Given the description of an element on the screen output the (x, y) to click on. 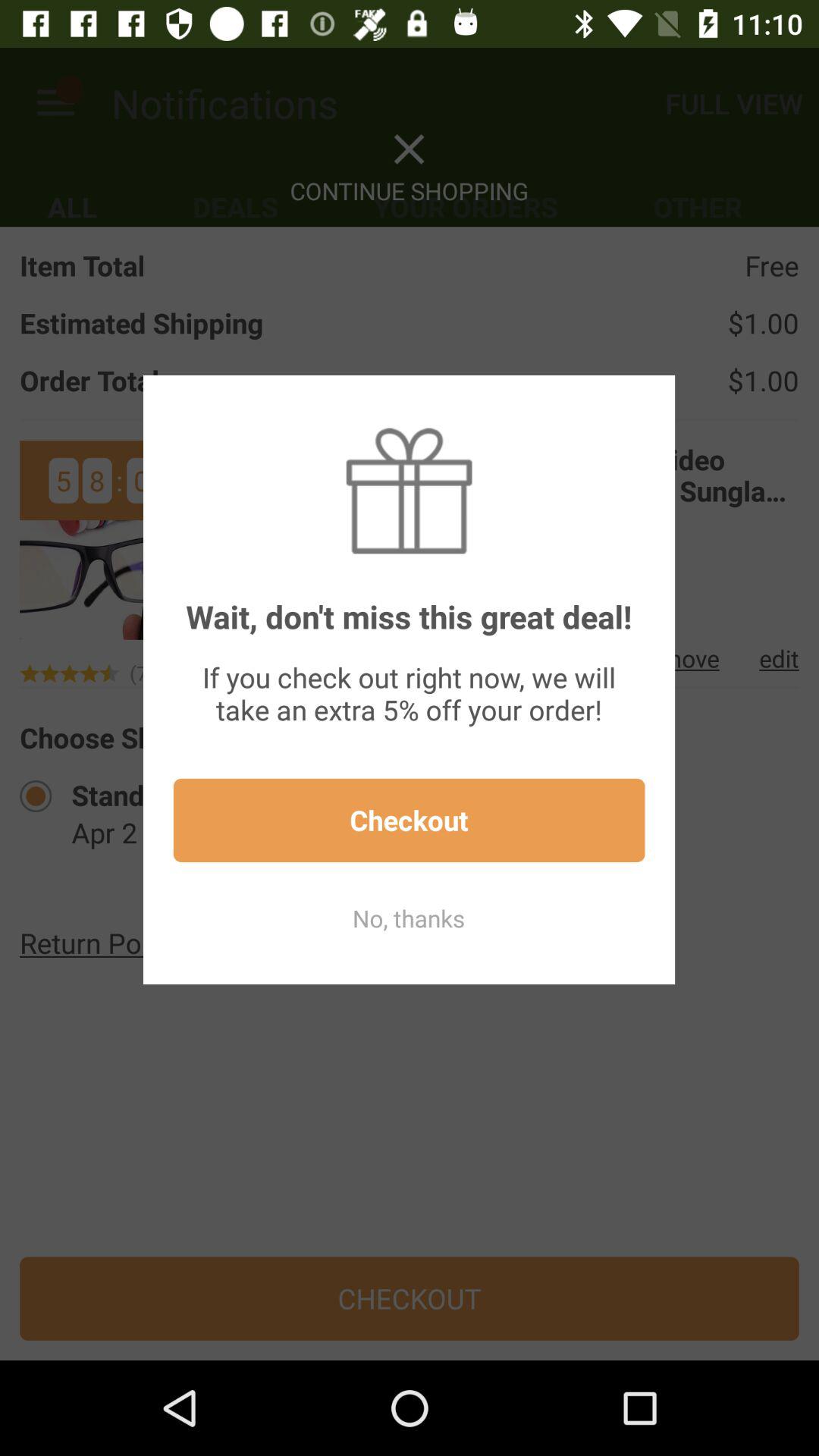
open the item below the checkout icon (408, 918)
